Given the description of an element on the screen output the (x, y) to click on. 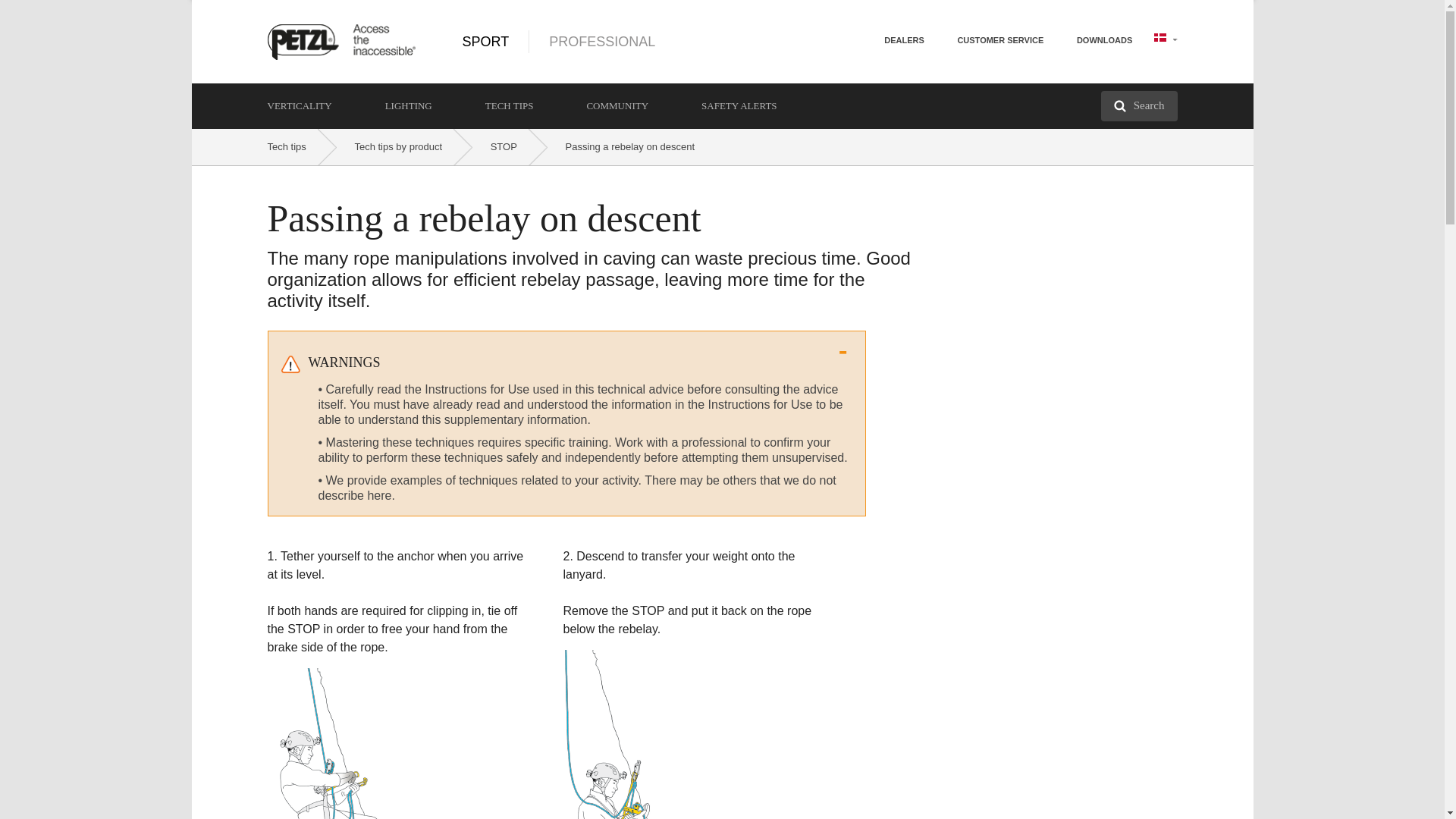
SPORT (486, 40)
PROFESSIONAL (581, 41)
DOWNLOADS (1104, 39)
DEALERS (903, 39)
CUSTOMER SERVICE (999, 39)
